Given the description of an element on the screen output the (x, y) to click on. 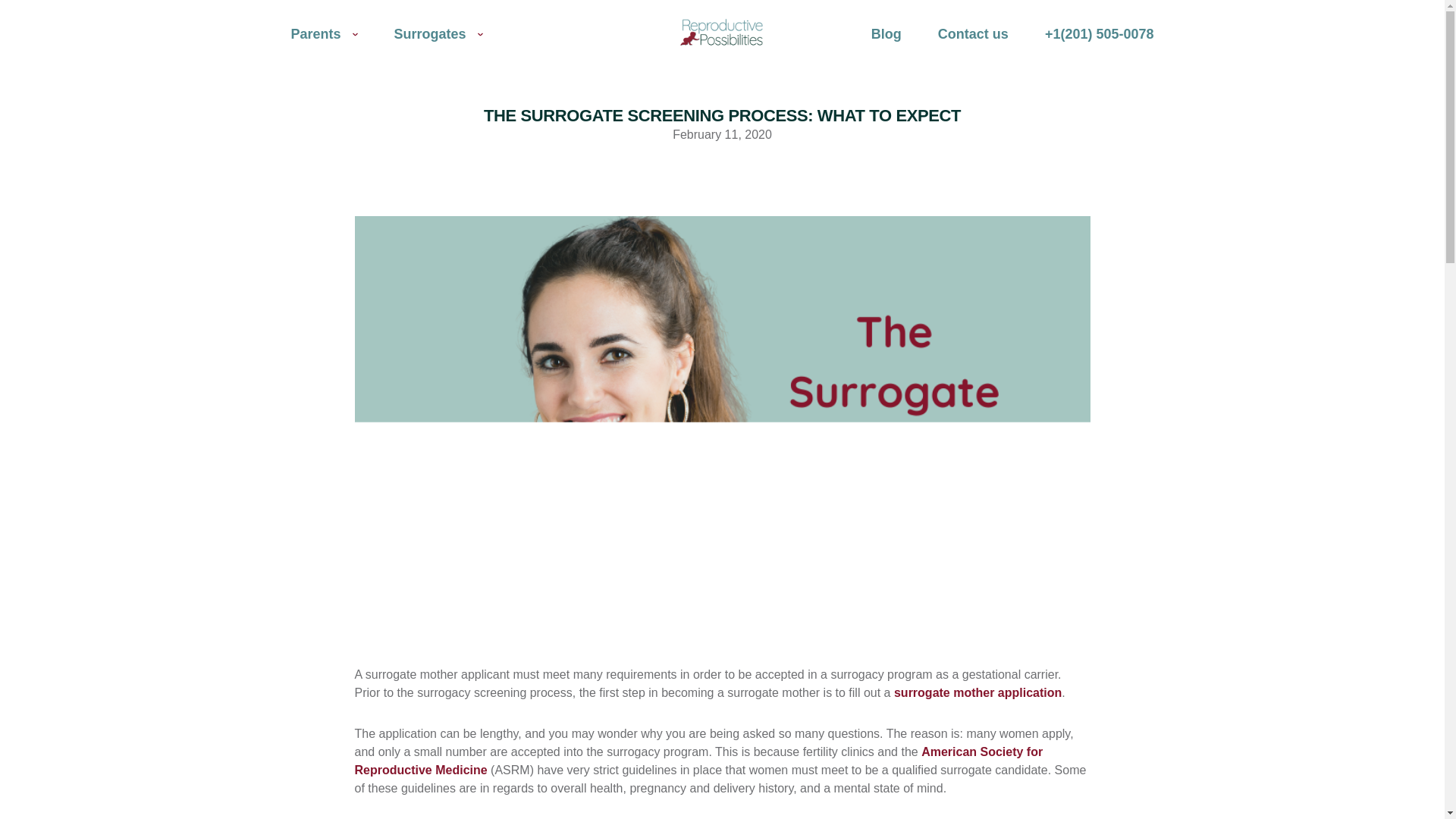
surrogate mother application (977, 692)
American Society for Reproductive Medicine (699, 760)
Blog (885, 33)
Parents (324, 33)
Contact us (973, 33)
